Given the description of an element on the screen output the (x, y) to click on. 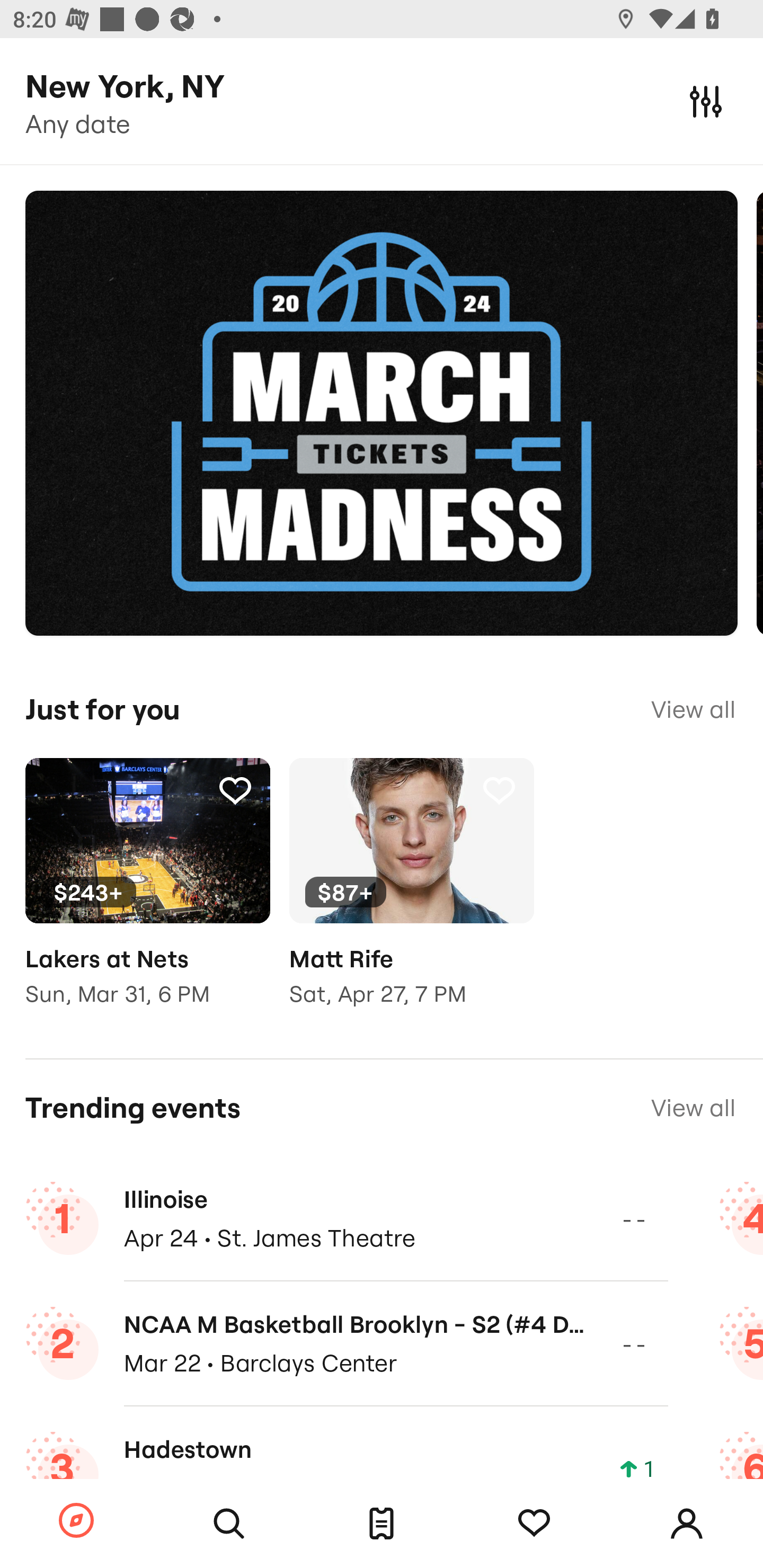
Filters (705, 100)
View all (693, 709)
Tracking $243+ Lakers at Nets Sun, Mar 31, 6 PM (147, 895)
Tracking $87+ Matt Rife Sat, Apr 27, 7 PM (411, 895)
Tracking (234, 790)
Tracking (498, 790)
View all (693, 1108)
Browse (76, 1521)
Search (228, 1523)
Tickets (381, 1523)
Tracking (533, 1523)
Account (686, 1523)
